Given the description of an element on the screen output the (x, y) to click on. 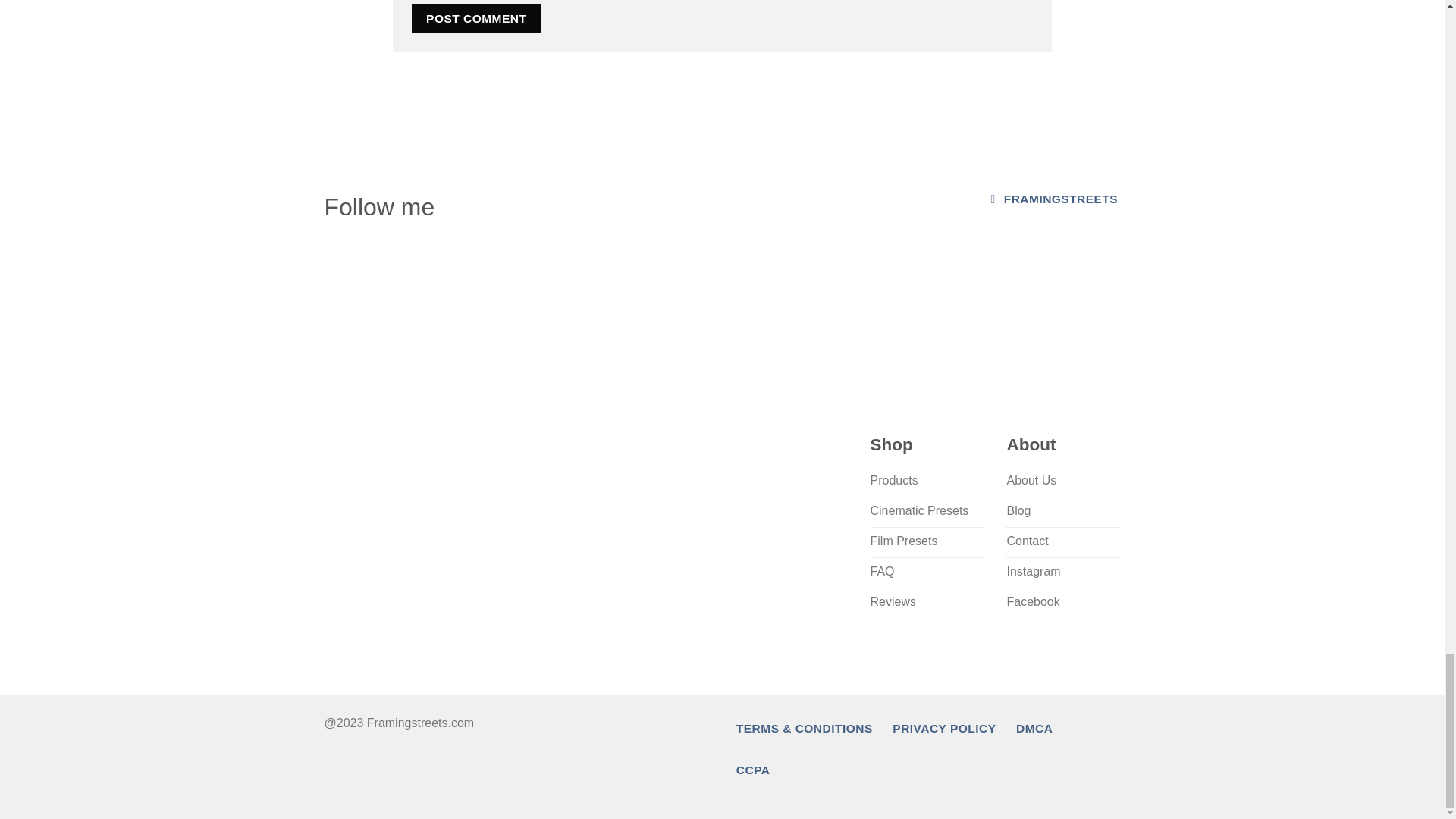
Post Comment (475, 18)
